Given the description of an element on the screen output the (x, y) to click on. 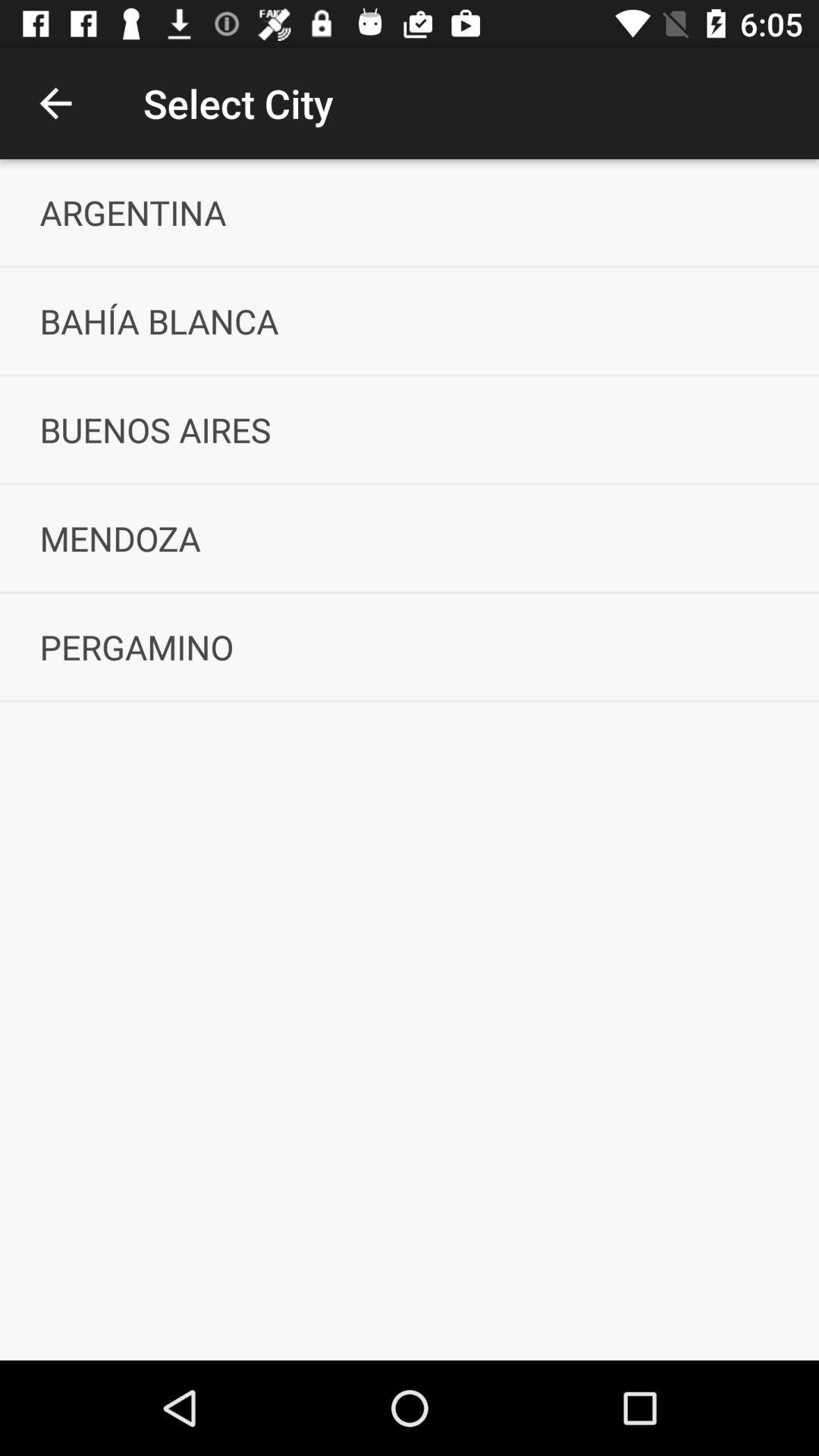
press the pergamino (409, 646)
